Given the description of an element on the screen output the (x, y) to click on. 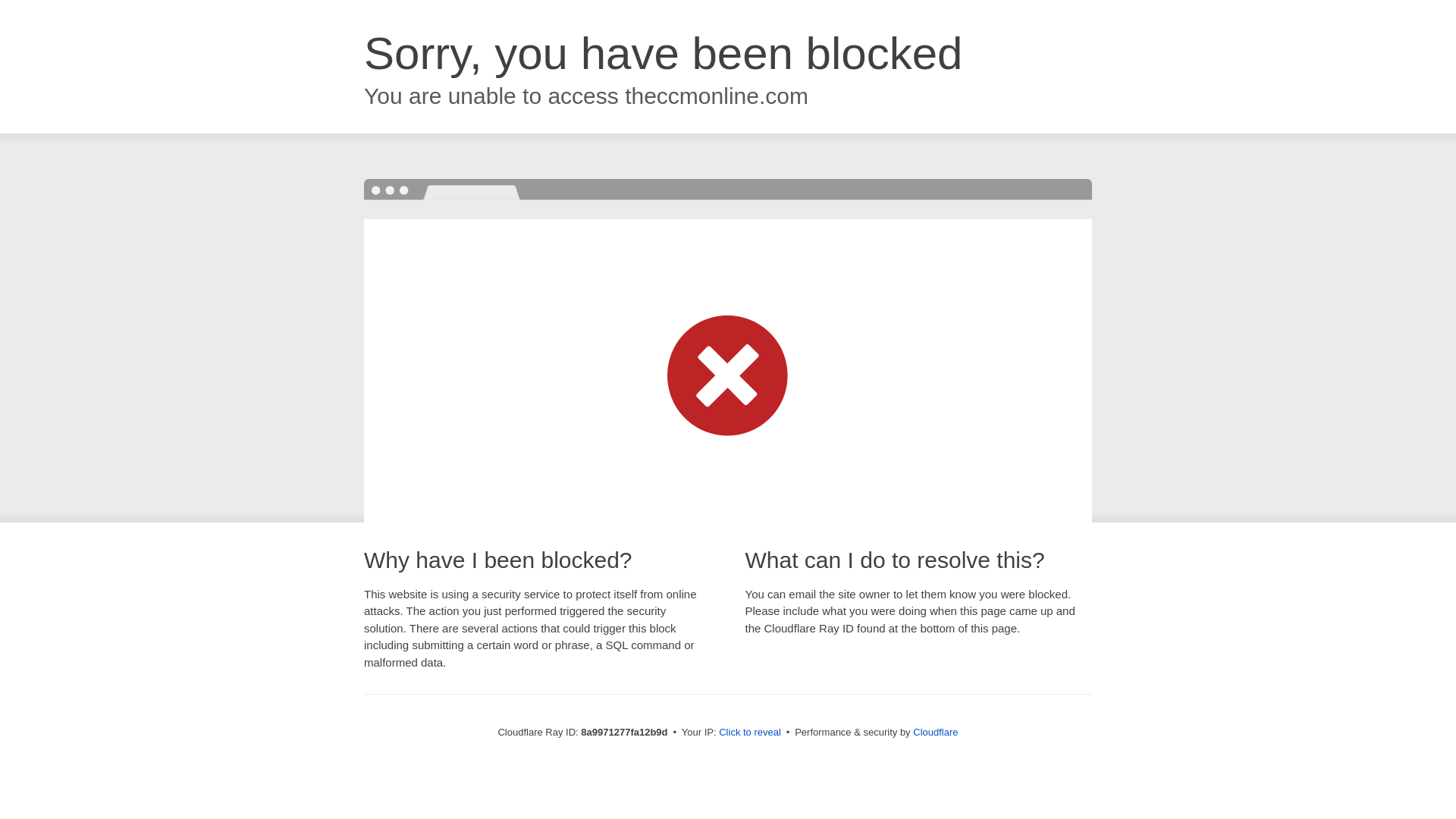
Cloudflare (935, 731)
Click to reveal (749, 732)
